Given the description of an element on the screen output the (x, y) to click on. 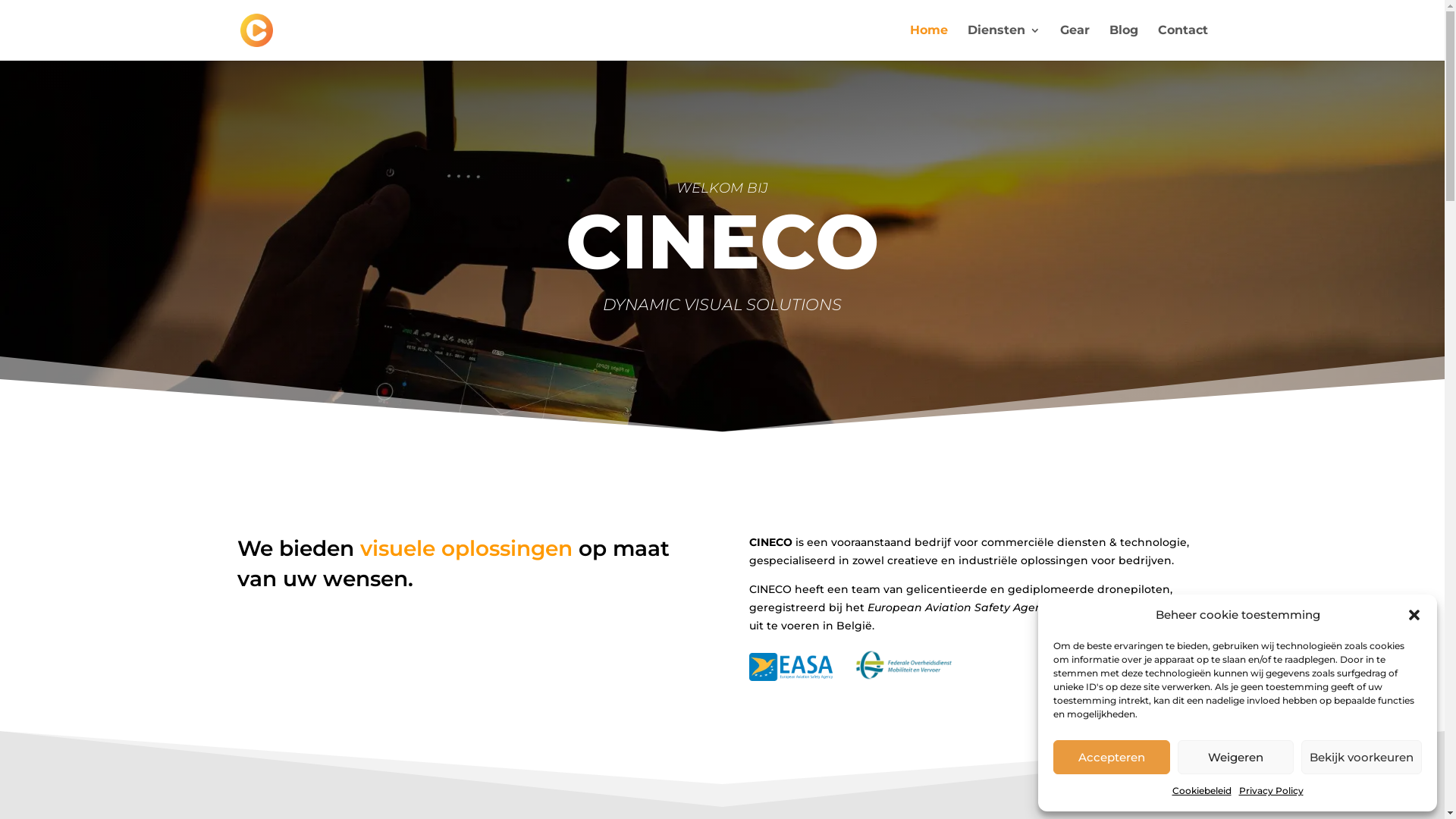
Contact Element type: text (1182, 42)
Privacy Policy Element type: text (1271, 790)
Gear Element type: text (1074, 42)
Home Element type: text (928, 42)
Weigeren Element type: text (1234, 757)
Accepteren Element type: text (1111, 757)
Diensten Element type: text (1003, 42)
Cookiebeleid Element type: text (1201, 790)
Bekijk voorkeuren Element type: text (1361, 757)
Blog Element type: text (1122, 42)
